Given the description of an element on the screen output the (x, y) to click on. 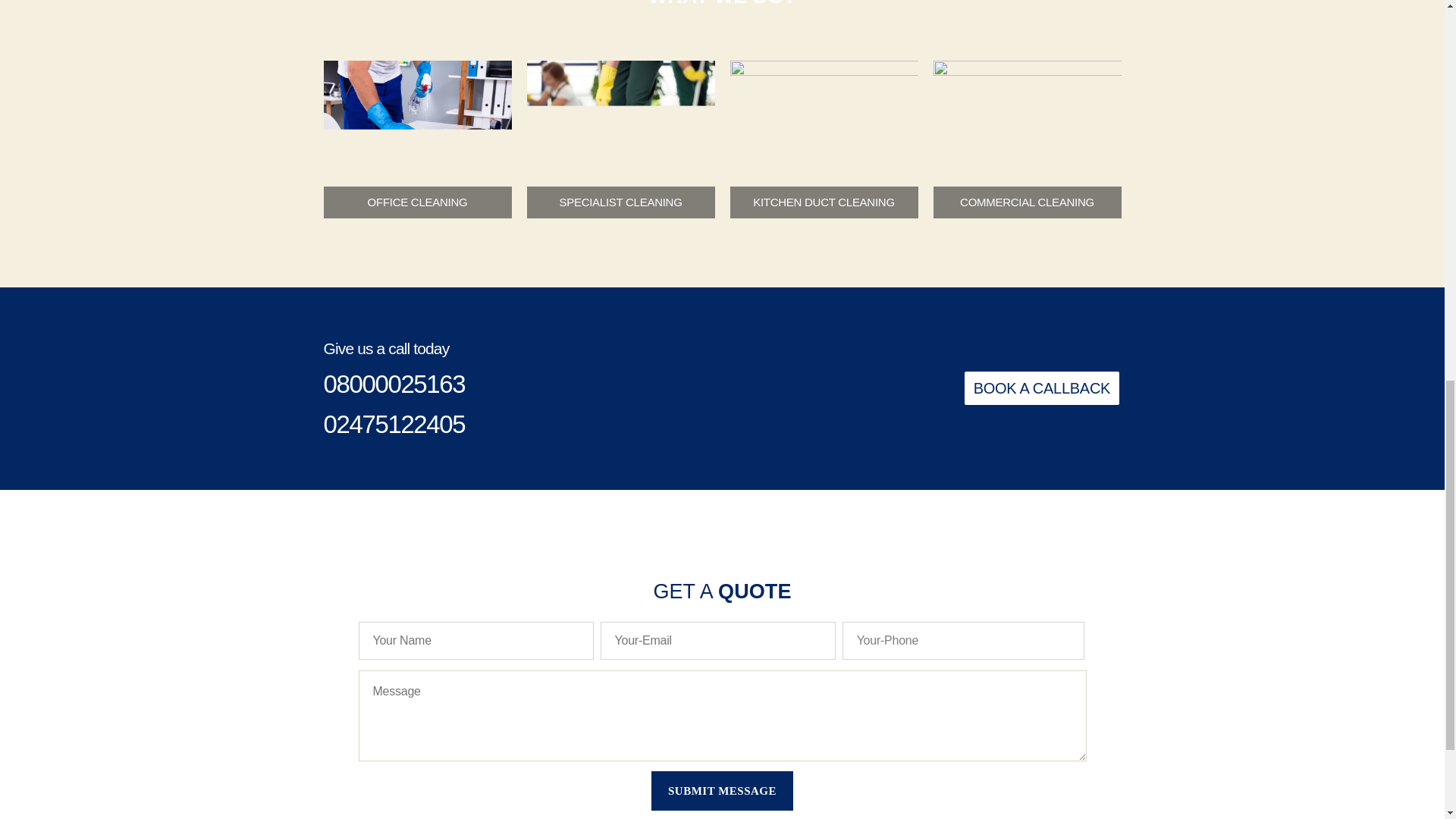
BOOK A CALLBACK (1041, 387)
Give us a call today (385, 348)
02475122405 (393, 424)
Submit Message (721, 790)
Submit Message (721, 790)
Your-Phone (963, 640)
08000025163 (393, 384)
